Given the description of an element on the screen output the (x, y) to click on. 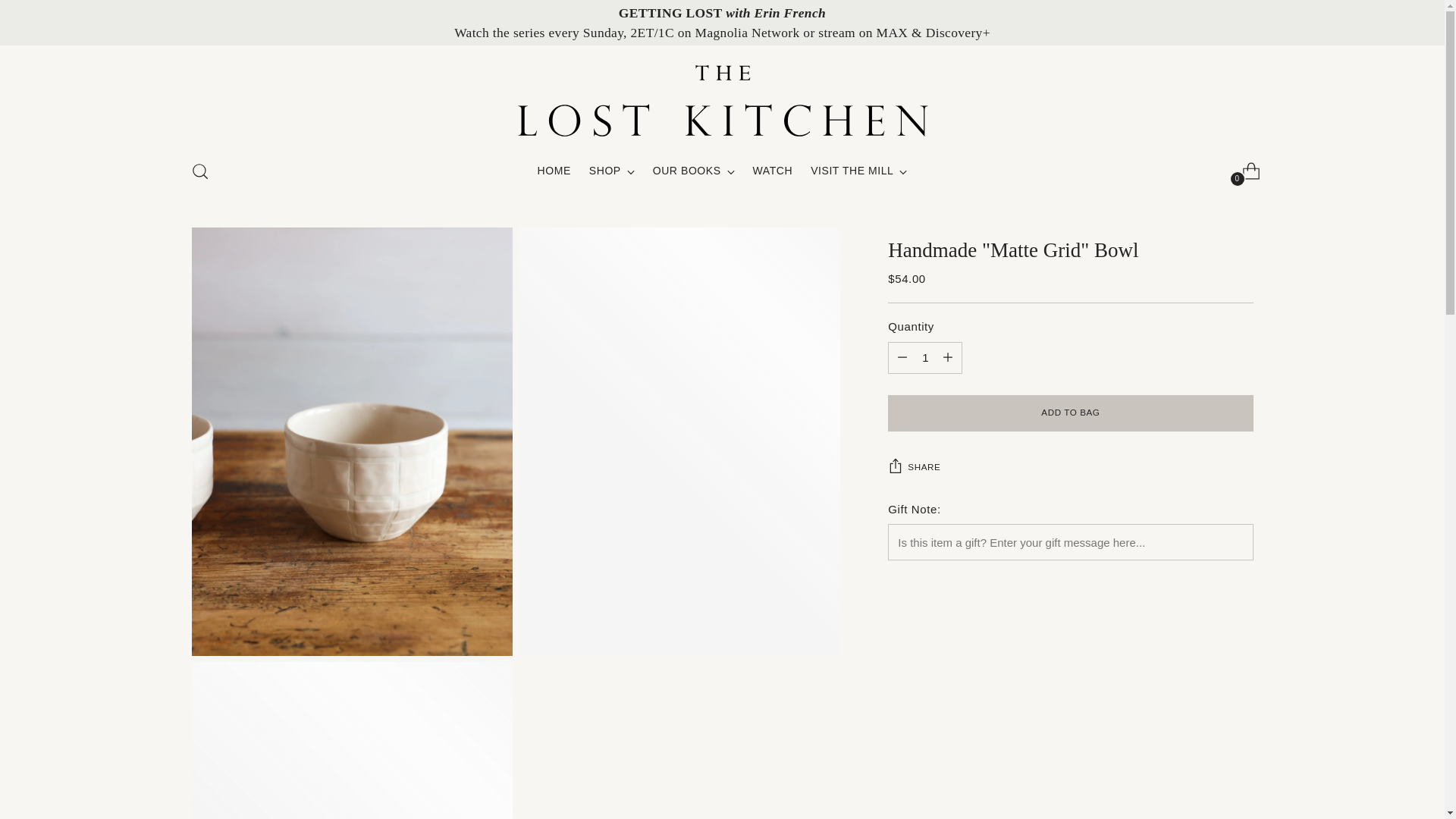
1 (925, 358)
OUR BOOKS (693, 171)
SHOP (611, 171)
0 (1245, 171)
VISIT THE MILL (858, 171)
HOME (553, 171)
WATCH (722, 171)
